Given the description of an element on the screen output the (x, y) to click on. 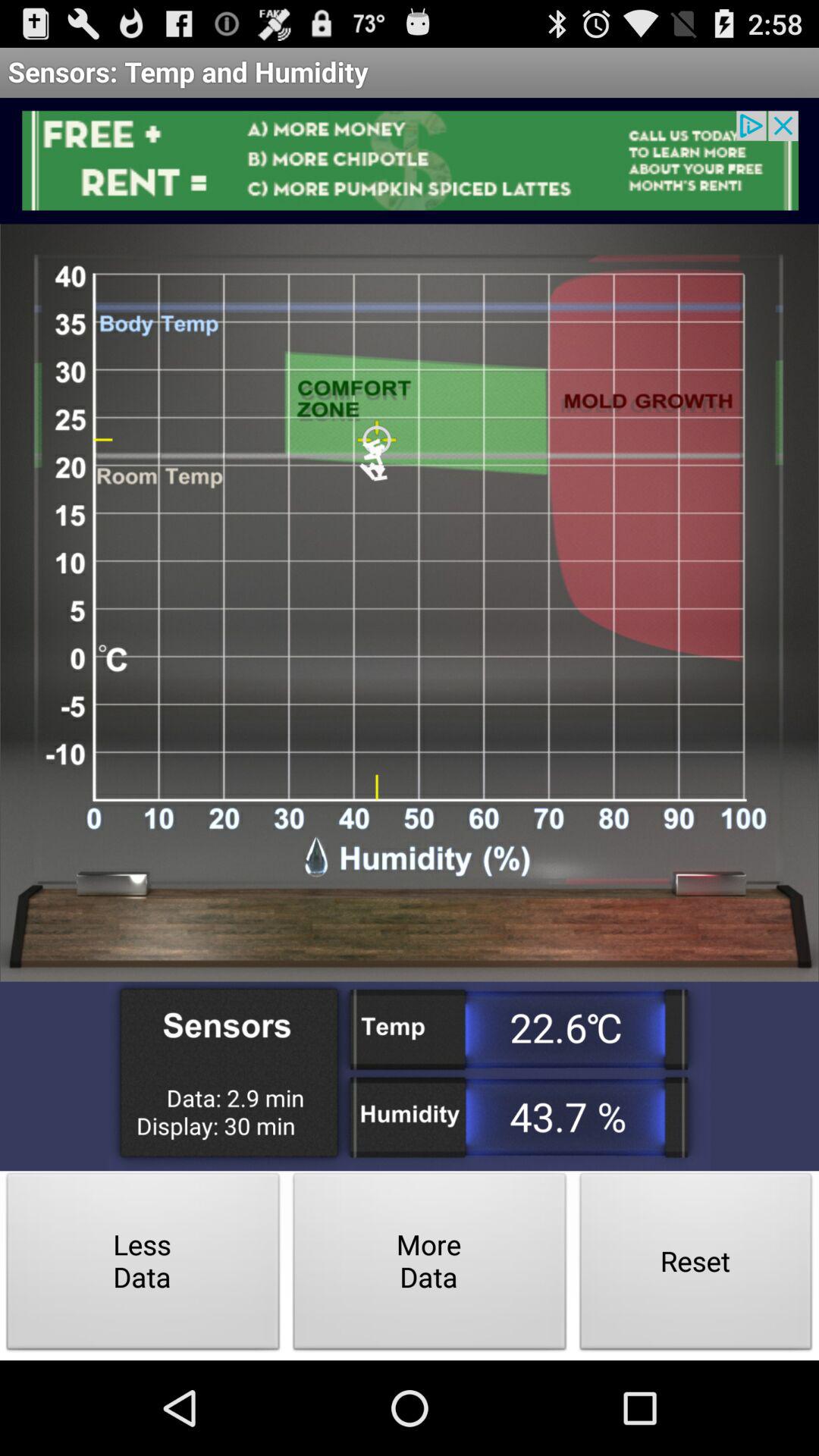
open the icon next to the more
data item (696, 1265)
